Given the description of an element on the screen output the (x, y) to click on. 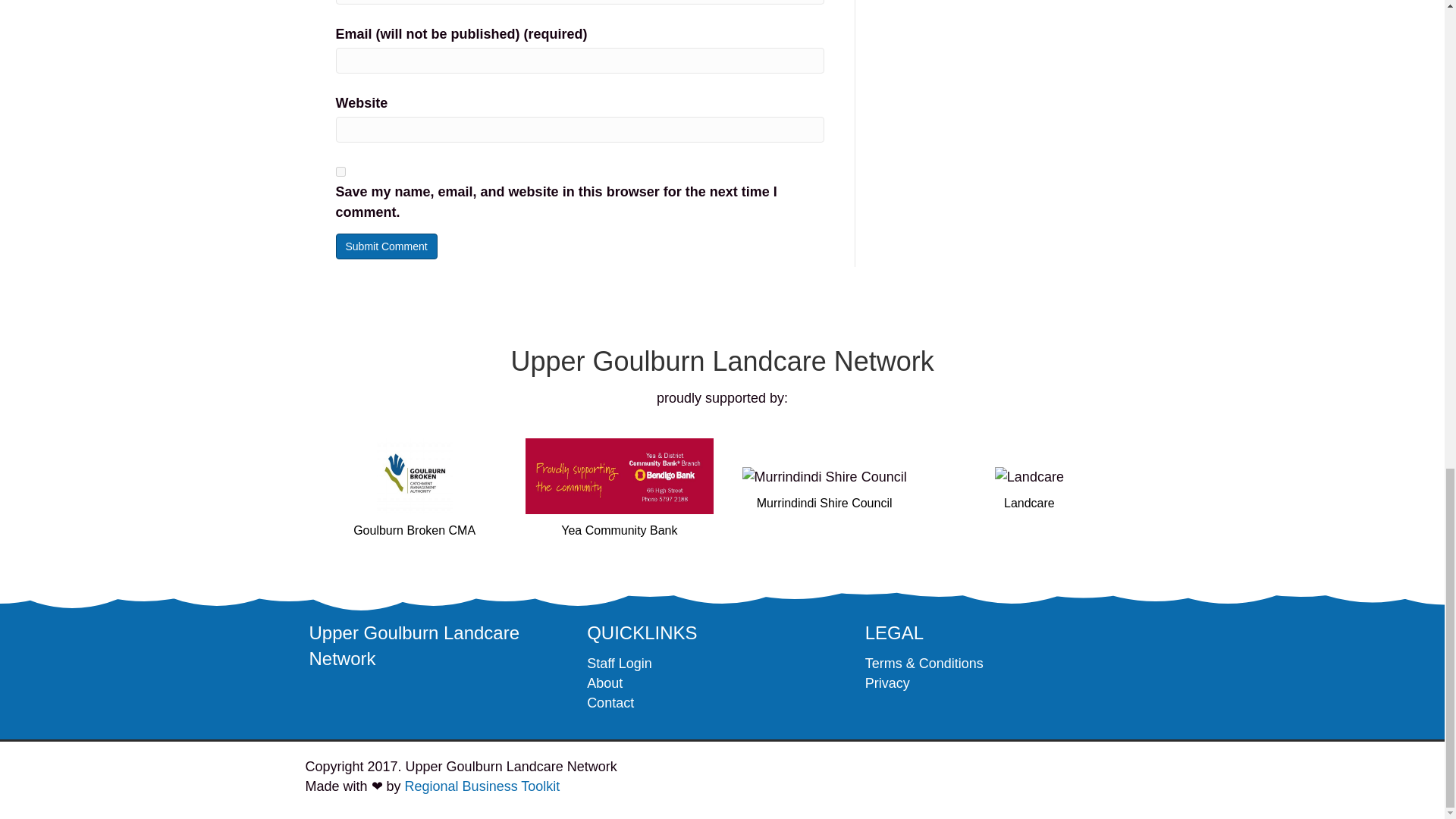
Submit Comment (385, 246)
yes (339, 171)
